Given the description of an element on the screen output the (x, y) to click on. 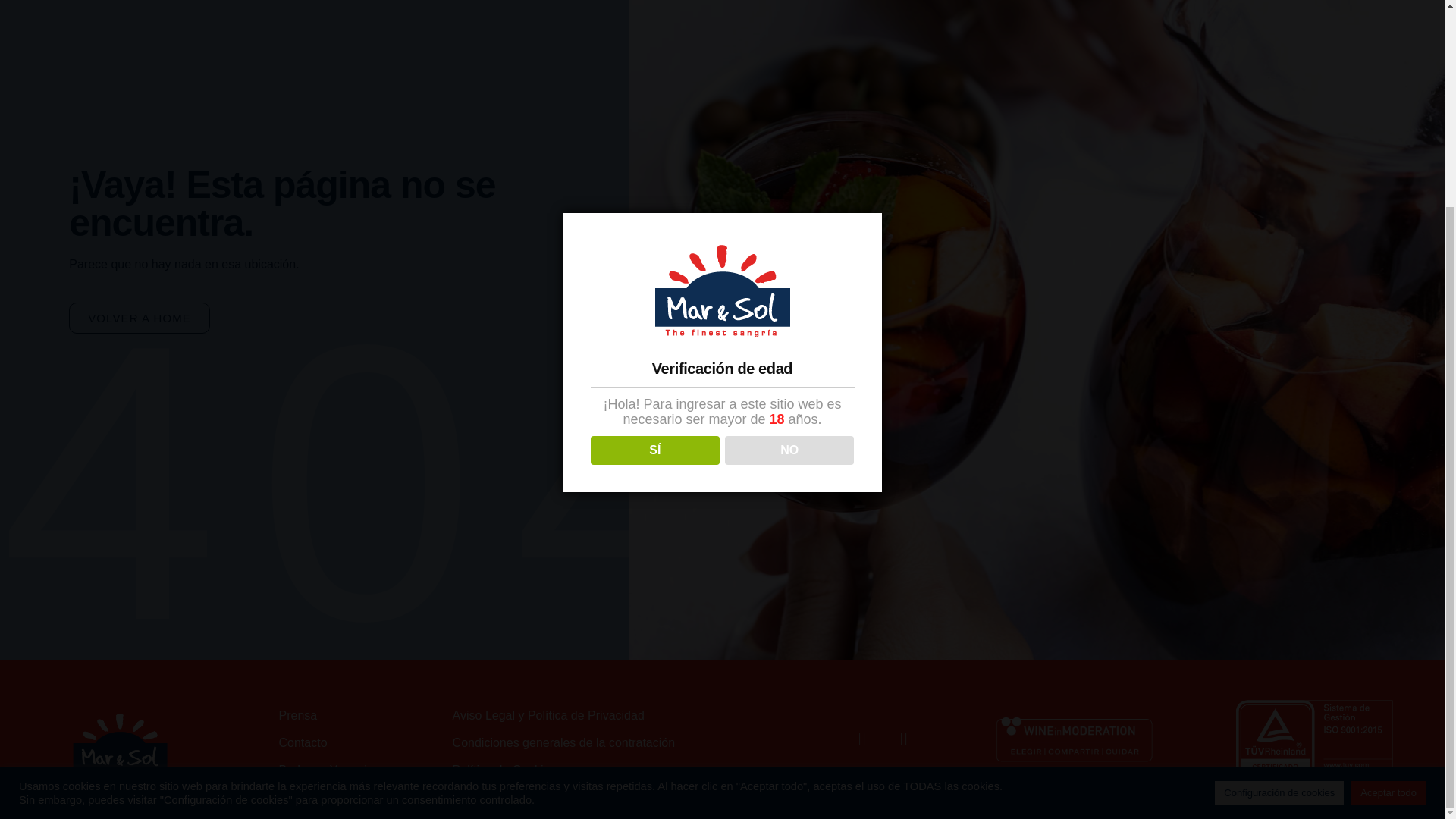
VOLVER A HOME (138, 317)
